Given the description of an element on the screen output the (x, y) to click on. 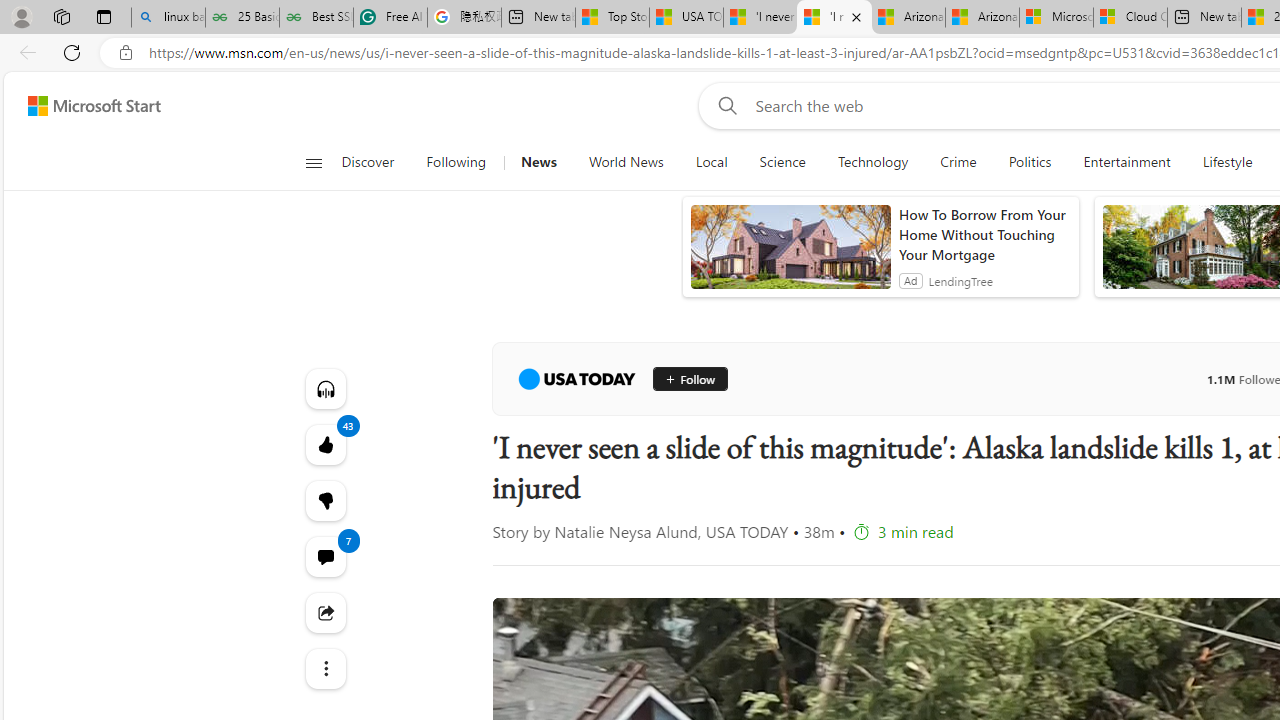
Free AI Writing Assistance for Students | Grammarly (390, 17)
View comments 7 Comment (324, 556)
Cloud Computing Services | Microsoft Azure (1130, 17)
Follow (689, 378)
43 Like (324, 444)
USA TODAY (576, 378)
